Given the description of an element on the screen output the (x, y) to click on. 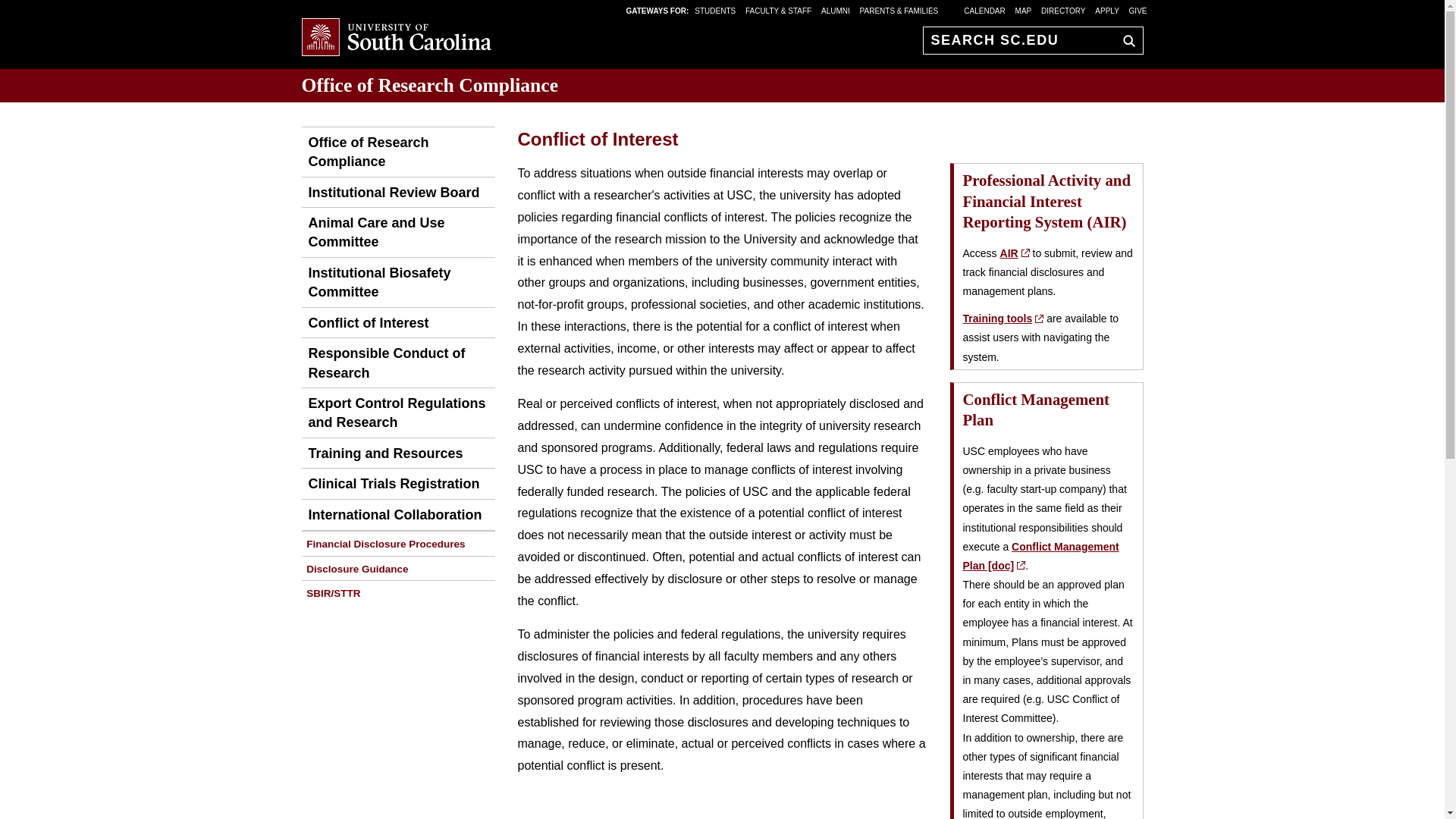
STUDENTS (716, 9)
GIVE (1138, 9)
Training Videos (1002, 318)
GO (1125, 40)
MAP (1023, 9)
OU Demo (398, 151)
Training and Resources (382, 453)
APPLY (1106, 9)
GO (1125, 40)
ALUMNI (835, 9)
DIRECTORY (1063, 9)
CALENDAR (983, 9)
University of South Carolina Home (396, 38)
AIR (1014, 253)
Office of Research Compliance (430, 85)
